Given the description of an element on the screen output the (x, y) to click on. 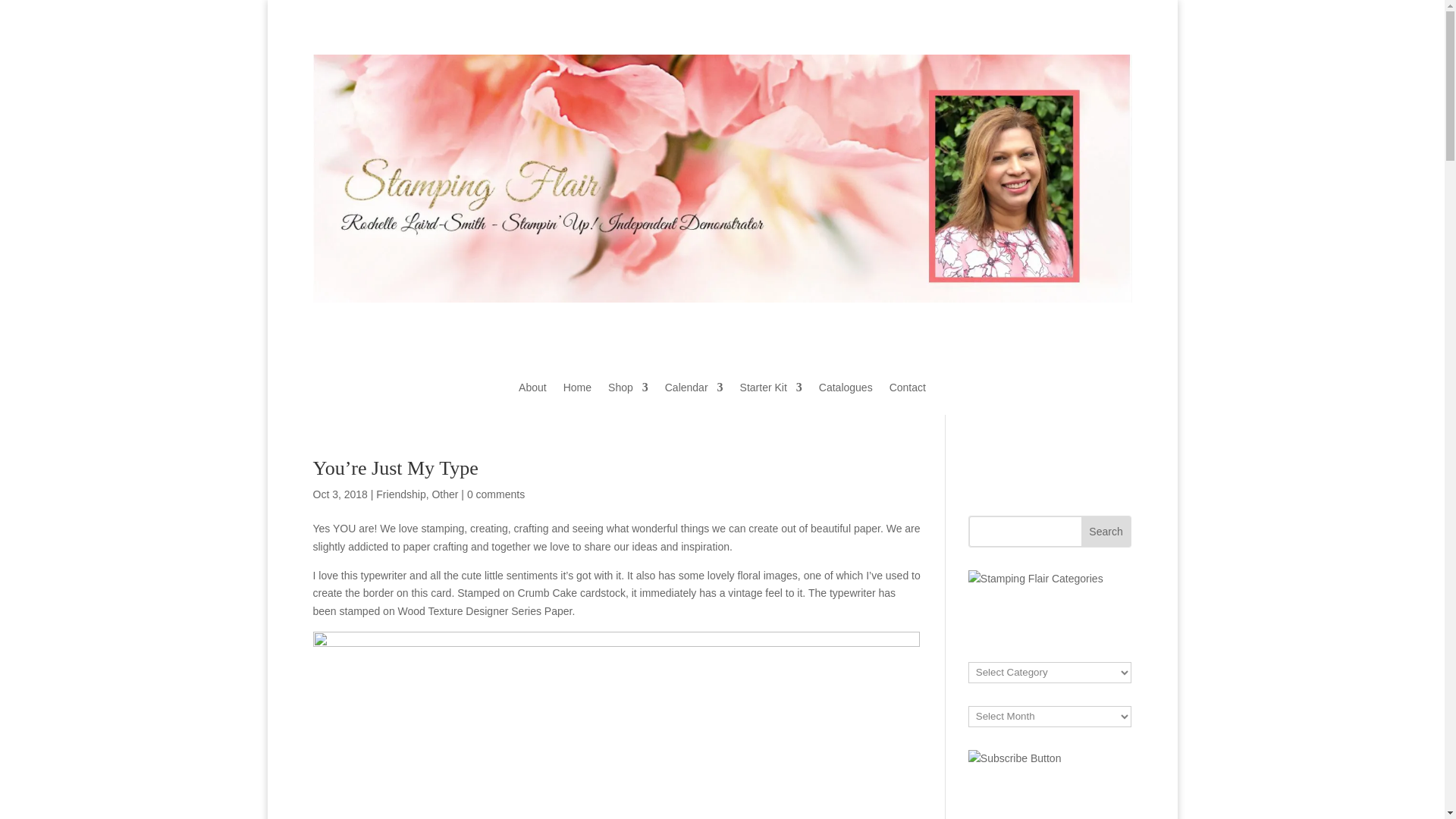
0 comments (495, 494)
Shop (627, 398)
Starter Kit (770, 398)
Contact (907, 398)
Friendship (400, 494)
Other (444, 494)
Catalogues (845, 398)
Search (1106, 531)
Calendar (694, 398)
